Given the description of an element on the screen output the (x, y) to click on. 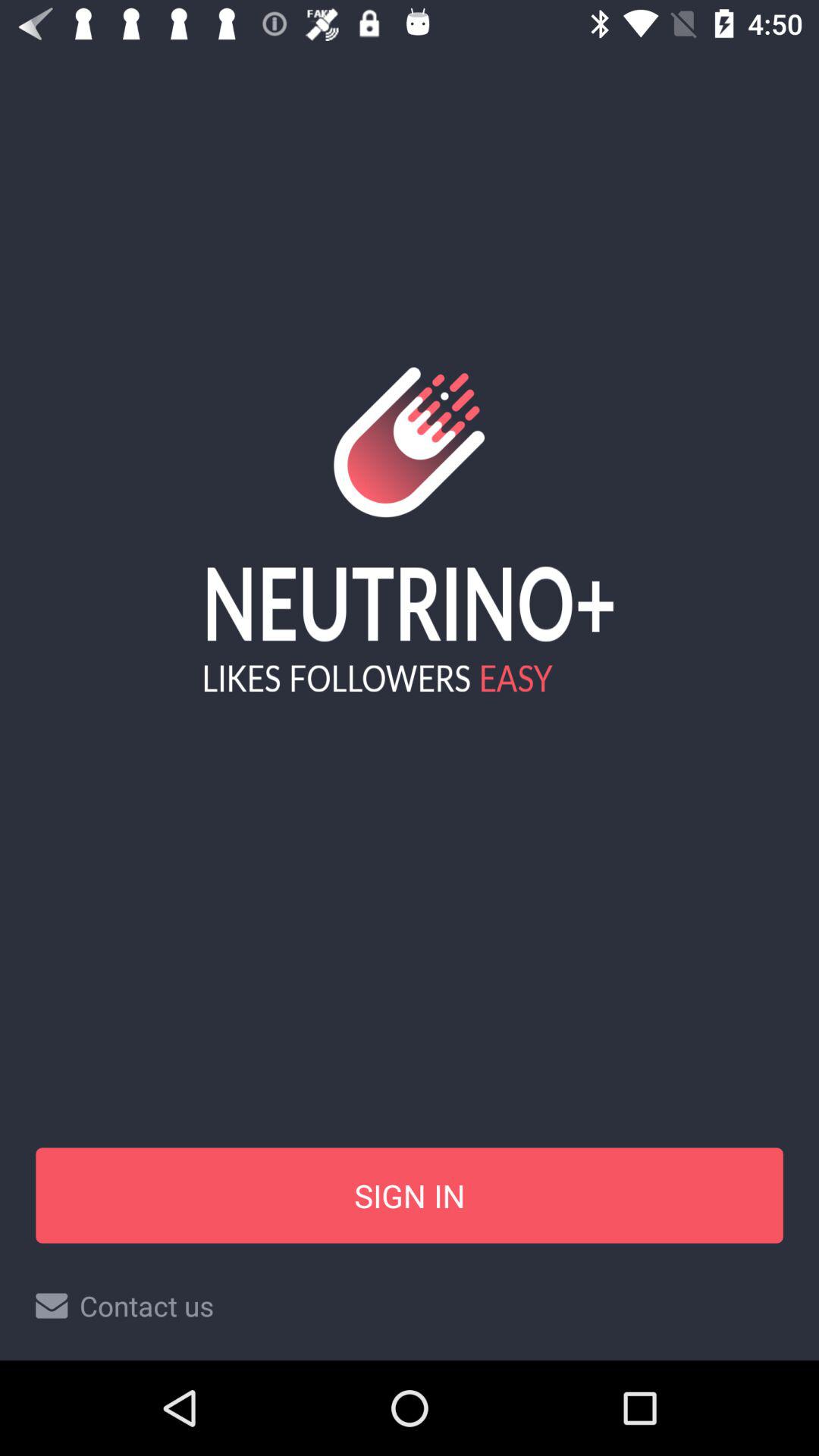
choose the item below sign in (409, 1305)
